Given the description of an element on the screen output the (x, y) to click on. 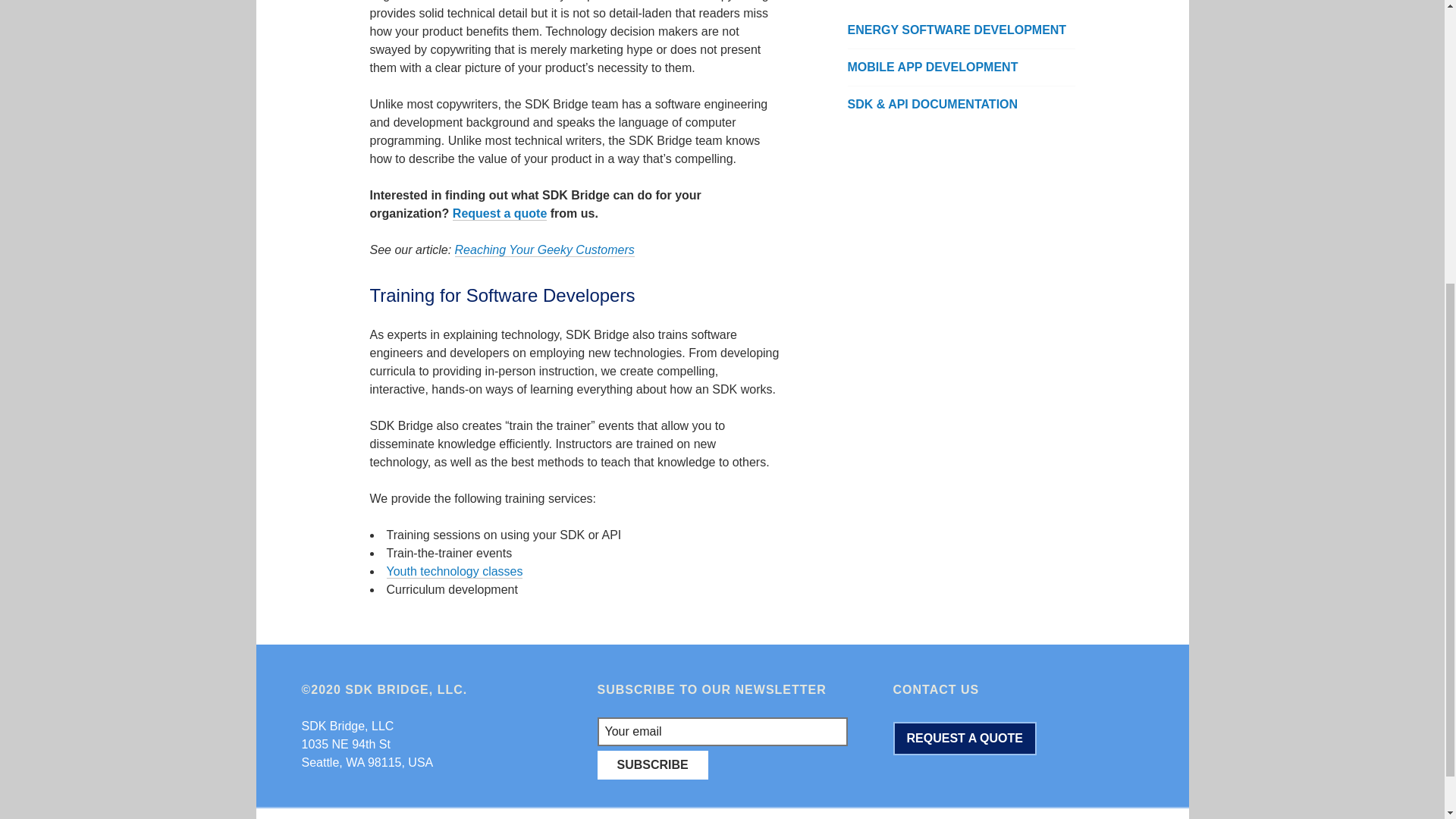
REQUEST A QUOTE (964, 738)
Request a quote (499, 213)
Your email (721, 731)
Subscribe (651, 765)
ENERGY SOFTWARE DEVELOPMENT (961, 30)
Reaching Your Geeky Customers (544, 250)
MOBILE APP DEVELOPMENT (961, 67)
Subscribe (651, 765)
Youth technology classes (454, 571)
